Given the description of an element on the screen output the (x, y) to click on. 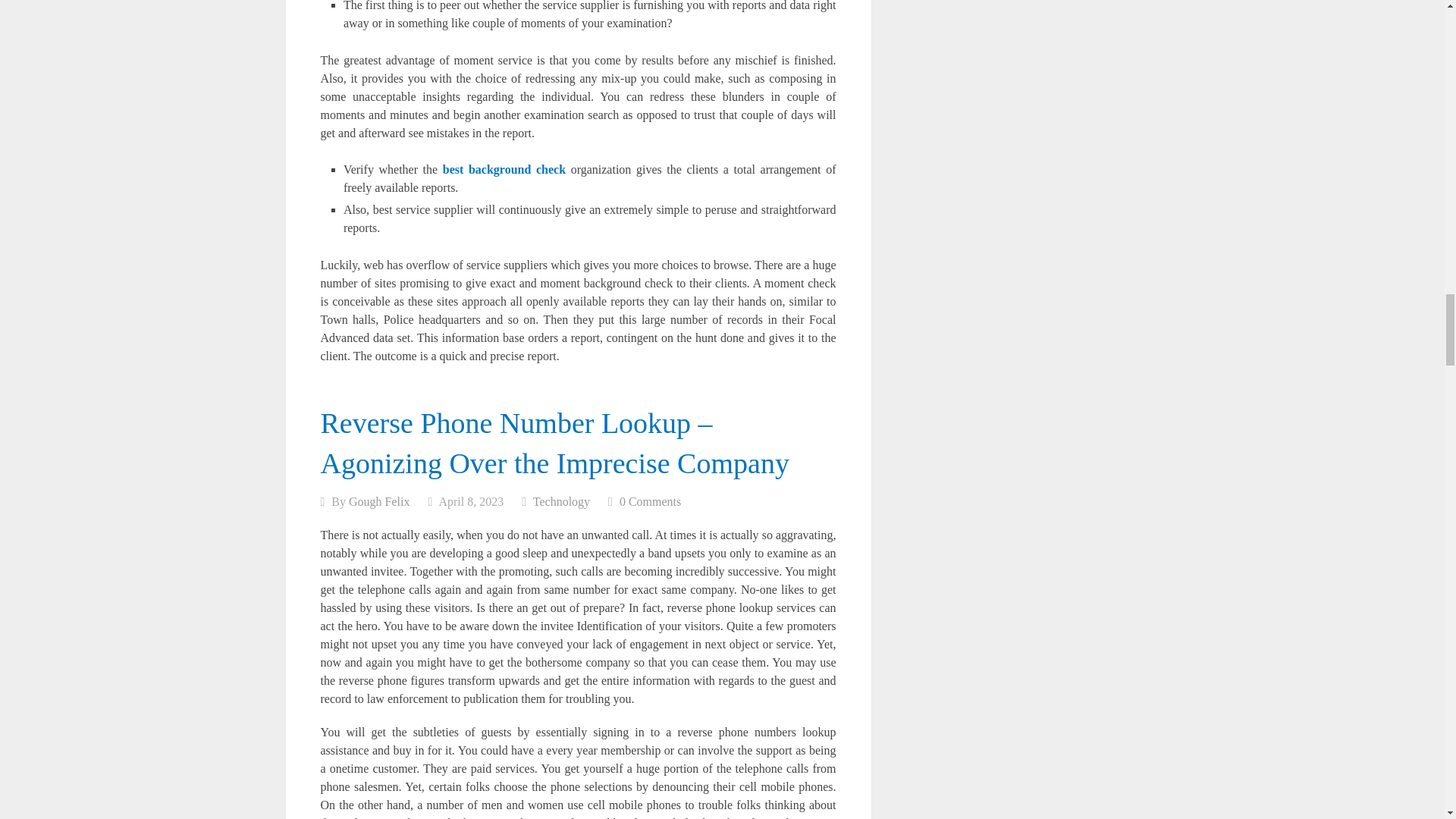
Gough Felix (379, 501)
Technology (560, 501)
0 Comments (650, 501)
best background check (504, 169)
Posts by Gough Felix (379, 501)
